Given the description of an element on the screen output the (x, y) to click on. 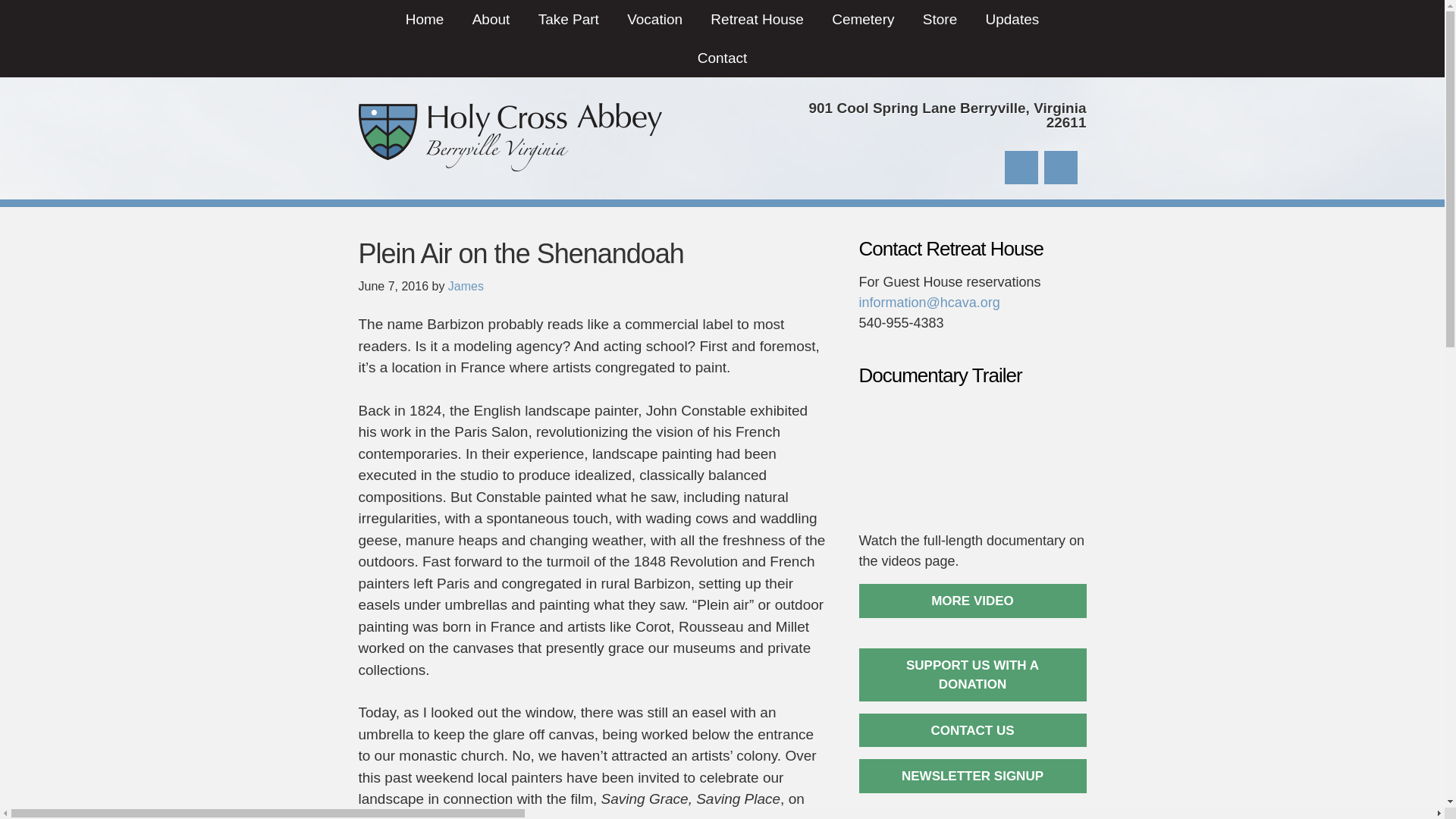
Holy Cross Abbey (509, 137)
Home (425, 19)
Updates (1012, 19)
Retreat House (756, 19)
Take Part (568, 19)
Contact (721, 57)
Vocation (654, 19)
Cemetery (862, 19)
About (491, 19)
James (465, 286)
Store (940, 19)
